Given the description of an element on the screen output the (x, y) to click on. 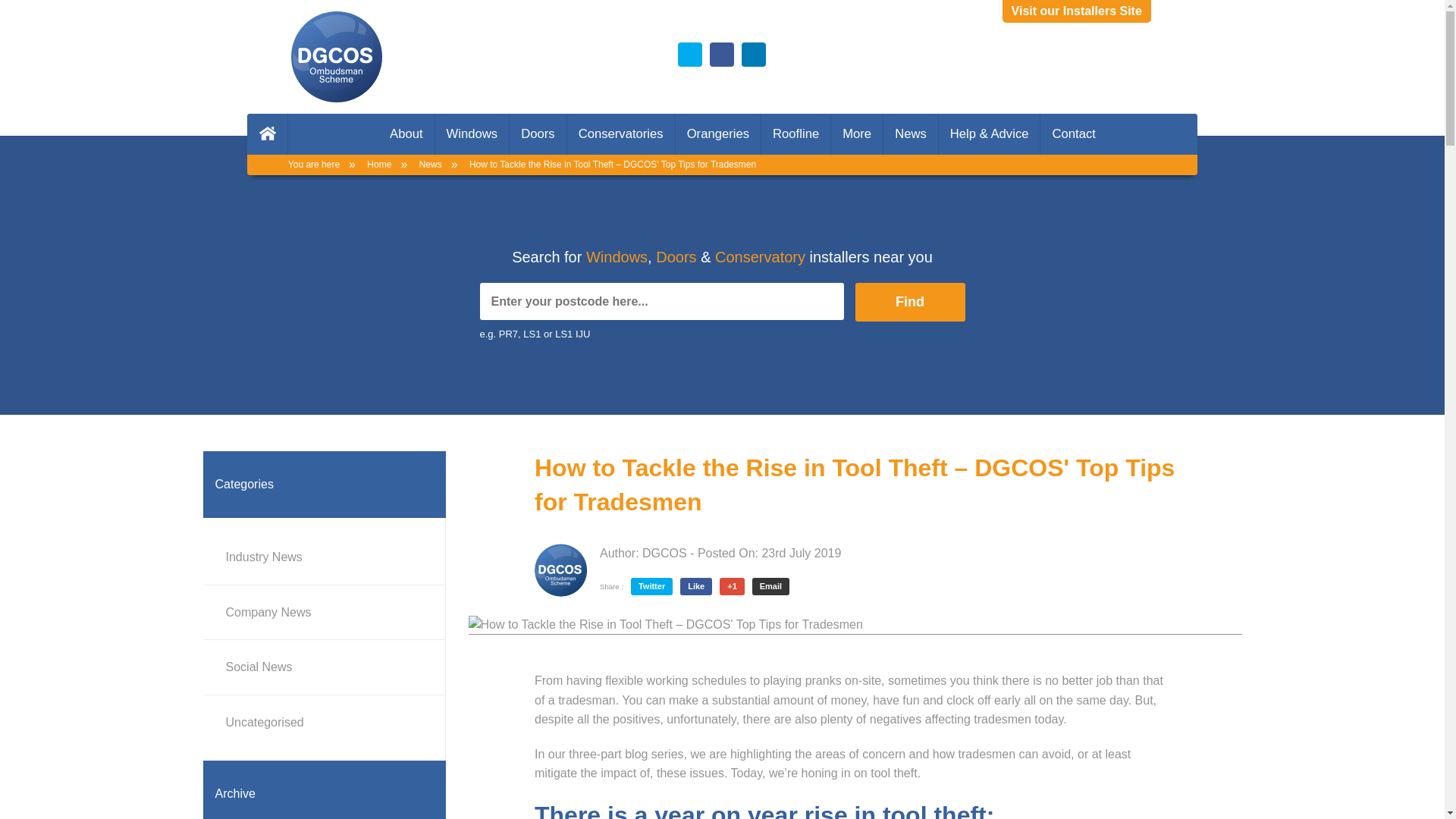
DGCOS (664, 553)
DGCOS on Twitter (689, 54)
DGCOS on  (753, 54)
DGCOS (561, 570)
DGCOS on Facebook (721, 54)
Uncategorised (323, 722)
Industry News (323, 557)
Company News (323, 612)
Social News (323, 666)
